Given the description of an element on the screen output the (x, y) to click on. 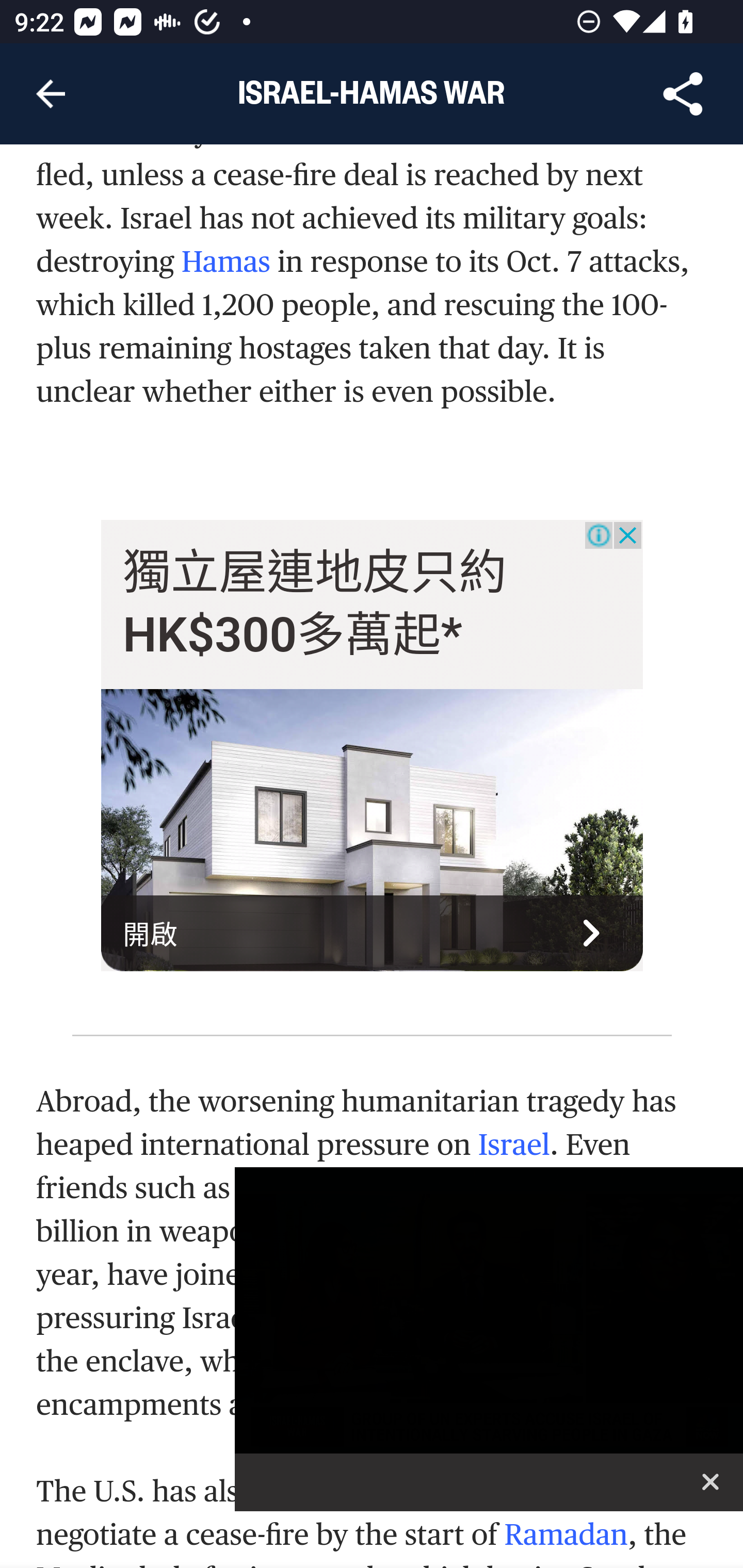
Navigate up (50, 93)
Share Article, button (683, 94)
Hamas (225, 264)
獨立屋連地皮只約 HK$300多萬起* 獨立屋連地皮只約 HK$300多萬起* (314, 604)
開啟 (372, 933)
Israel (513, 1144)
Ramadan (565, 1534)
